Given the description of an element on the screen output the (x, y) to click on. 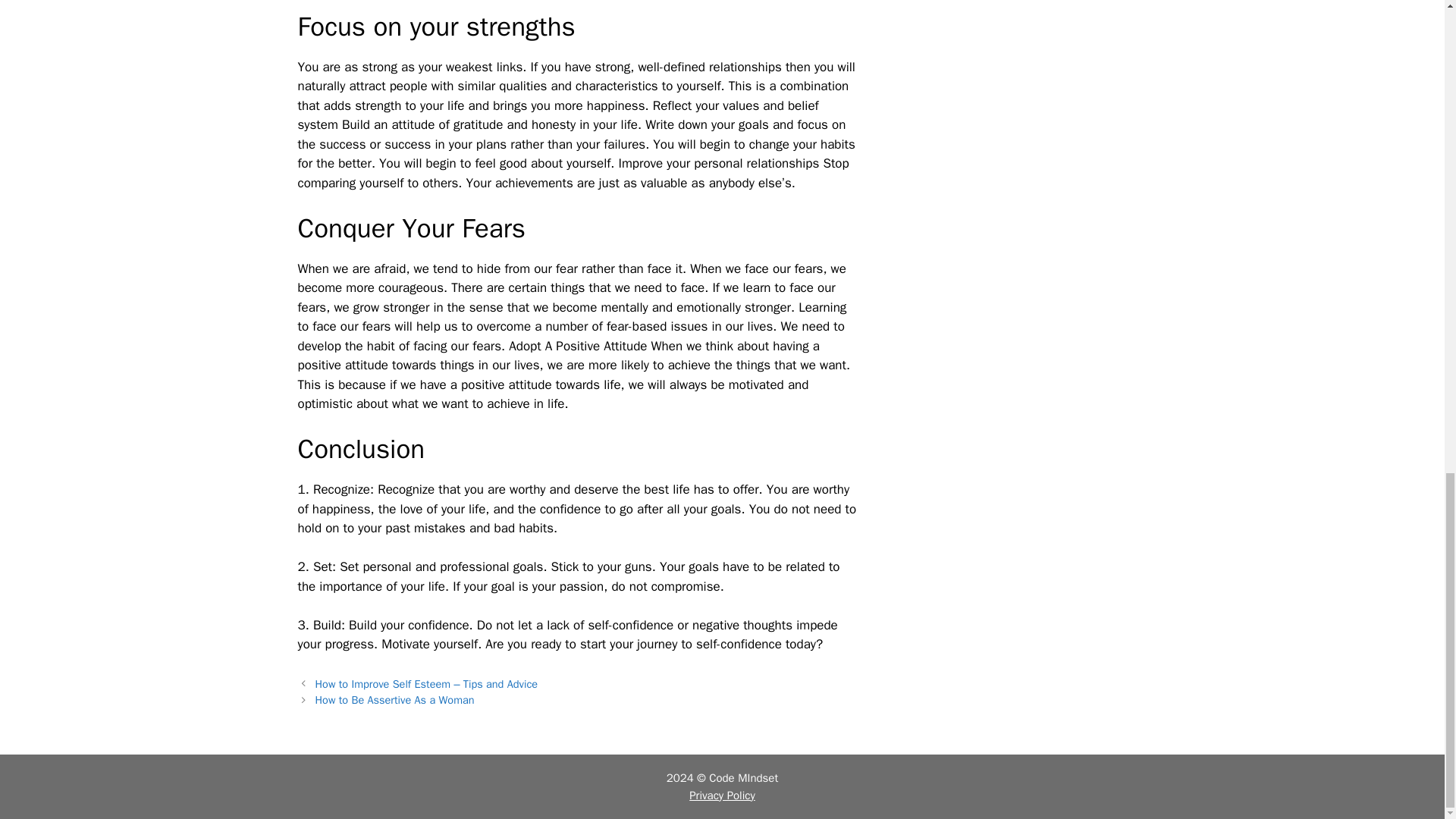
How to Be Assertive As a Woman (394, 699)
Privacy Policy (721, 795)
